Given the description of an element on the screen output the (x, y) to click on. 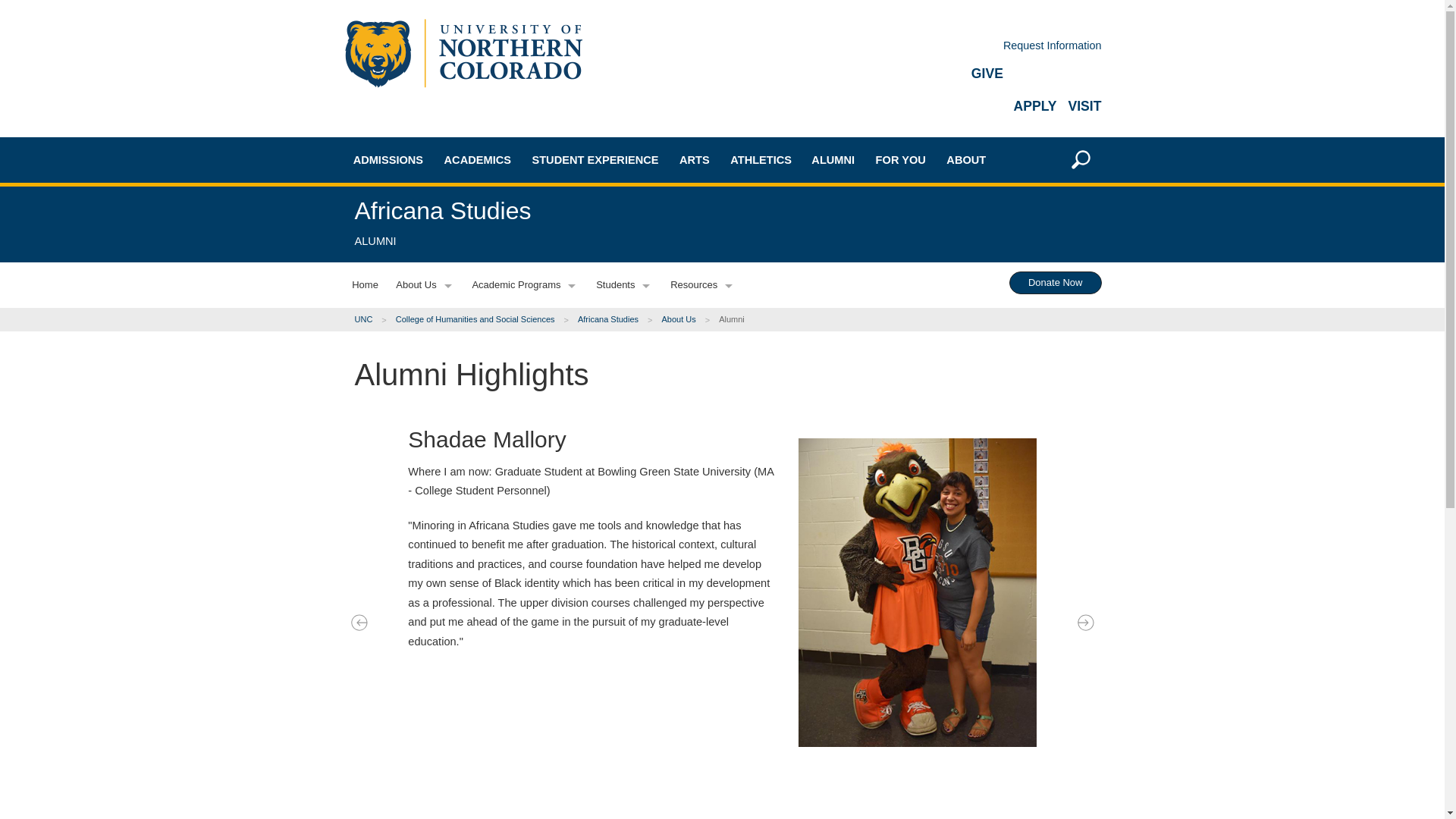
Research (509, 419)
Virtual Tour (418, 483)
Search (1067, 370)
ADMISSIONS (387, 159)
Orientation (418, 509)
International (418, 307)
Catalog (509, 339)
Apply (418, 536)
Undergraduate Programs (509, 233)
Extended Campus (418, 334)
Bookstore (509, 393)
Financial Aid (418, 408)
Departments and Colleges (509, 286)
APPLY (1035, 105)
Education Abroad (509, 313)
